Given the description of an element on the screen output the (x, y) to click on. 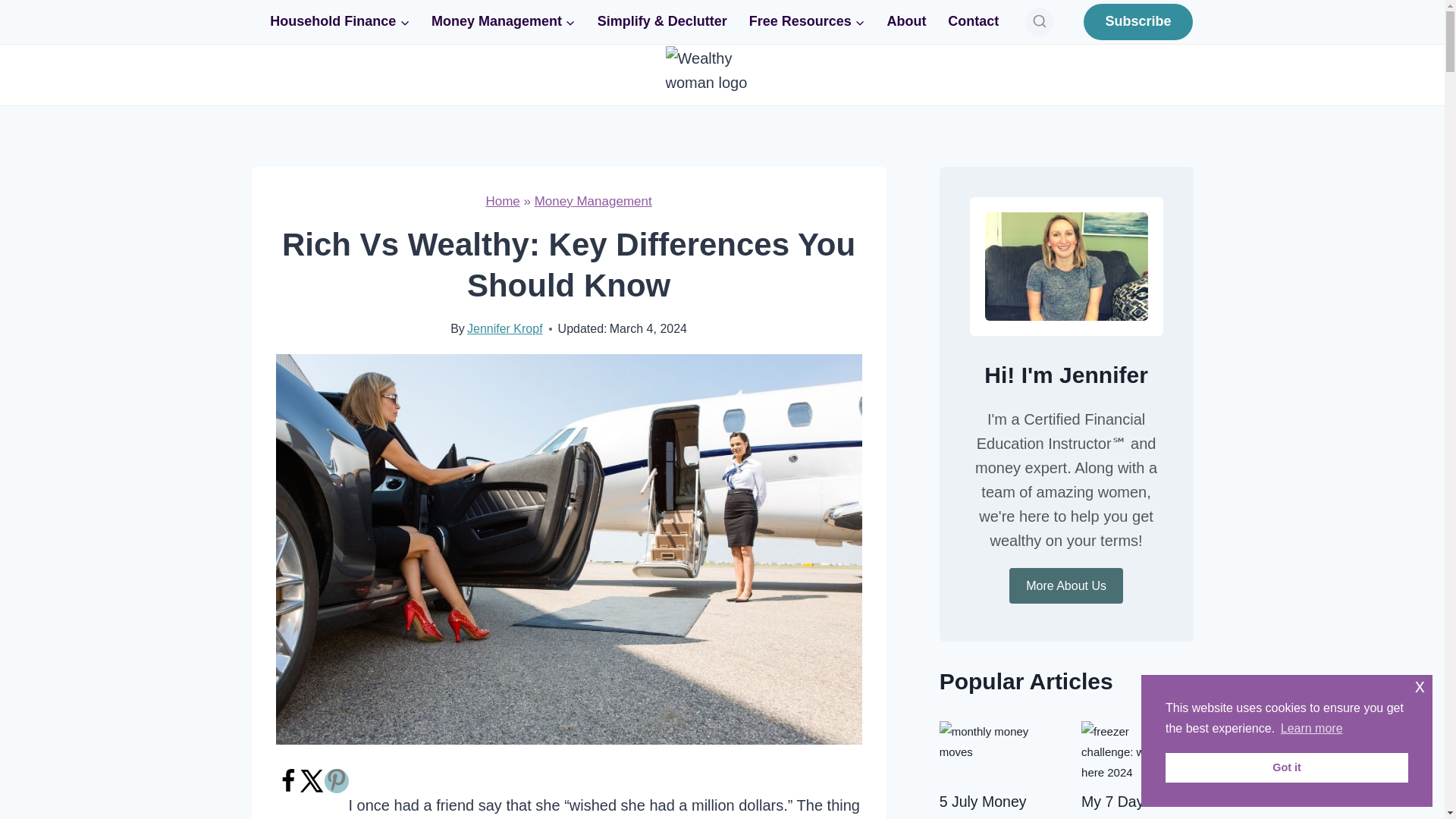
Contact (973, 20)
Save to Pinterest (336, 781)
About (906, 20)
Subscribe (1137, 22)
Household Finance (339, 20)
Share on Facebook (287, 788)
Jennifer Kropf (505, 328)
Share on X (311, 788)
Money Management (503, 20)
Free Resources (807, 20)
Home (501, 201)
Money Management (593, 201)
